Given the description of an element on the screen output the (x, y) to click on. 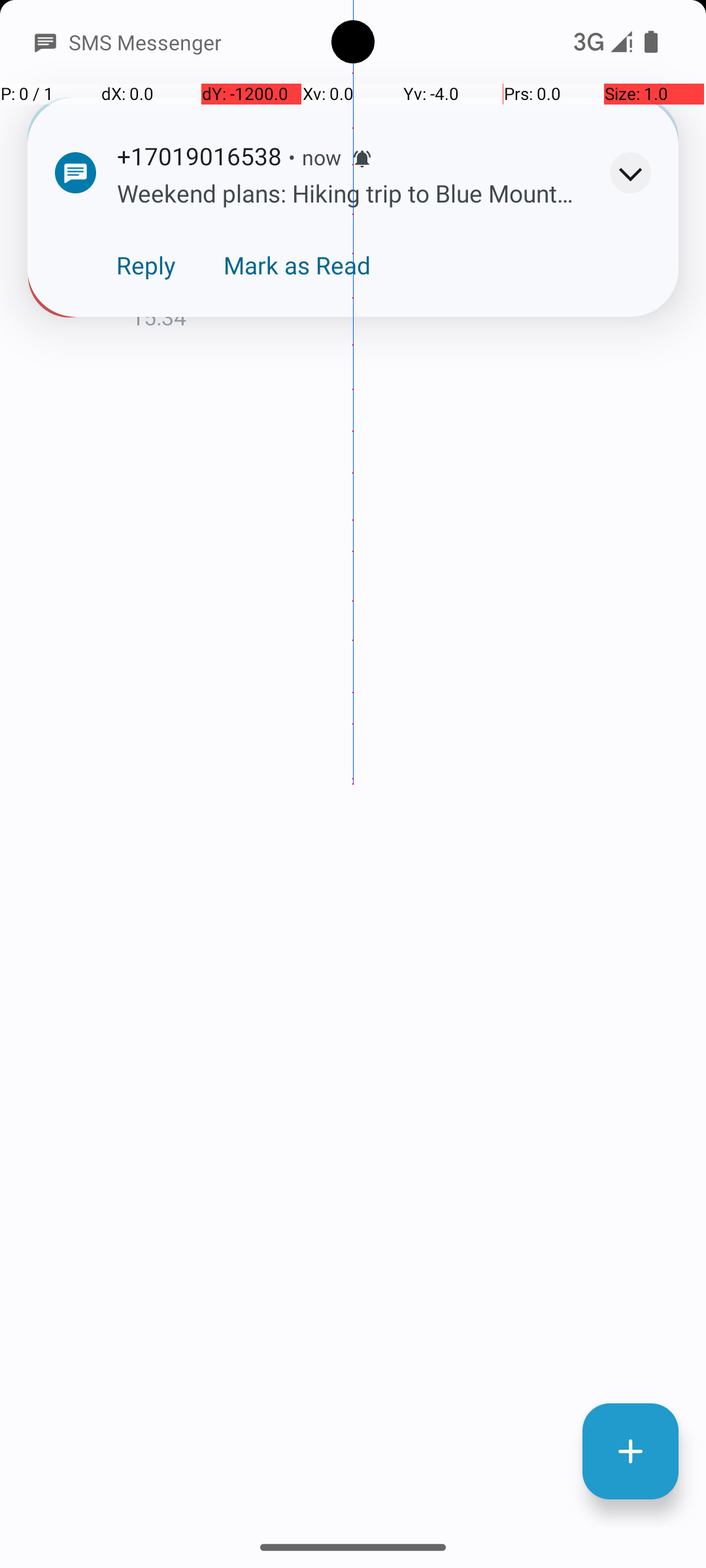
+17019016538 Element type: android.widget.TextView (408, 242)
Weekend plans: Hiking trip to Blue Mountain. Element type: android.widget.TextView (408, 281)
Reply Element type: android.widget.Button (146, 265)
Mark as Read Element type: android.widget.Button (296, 265)
